Given the description of an element on the screen output the (x, y) to click on. 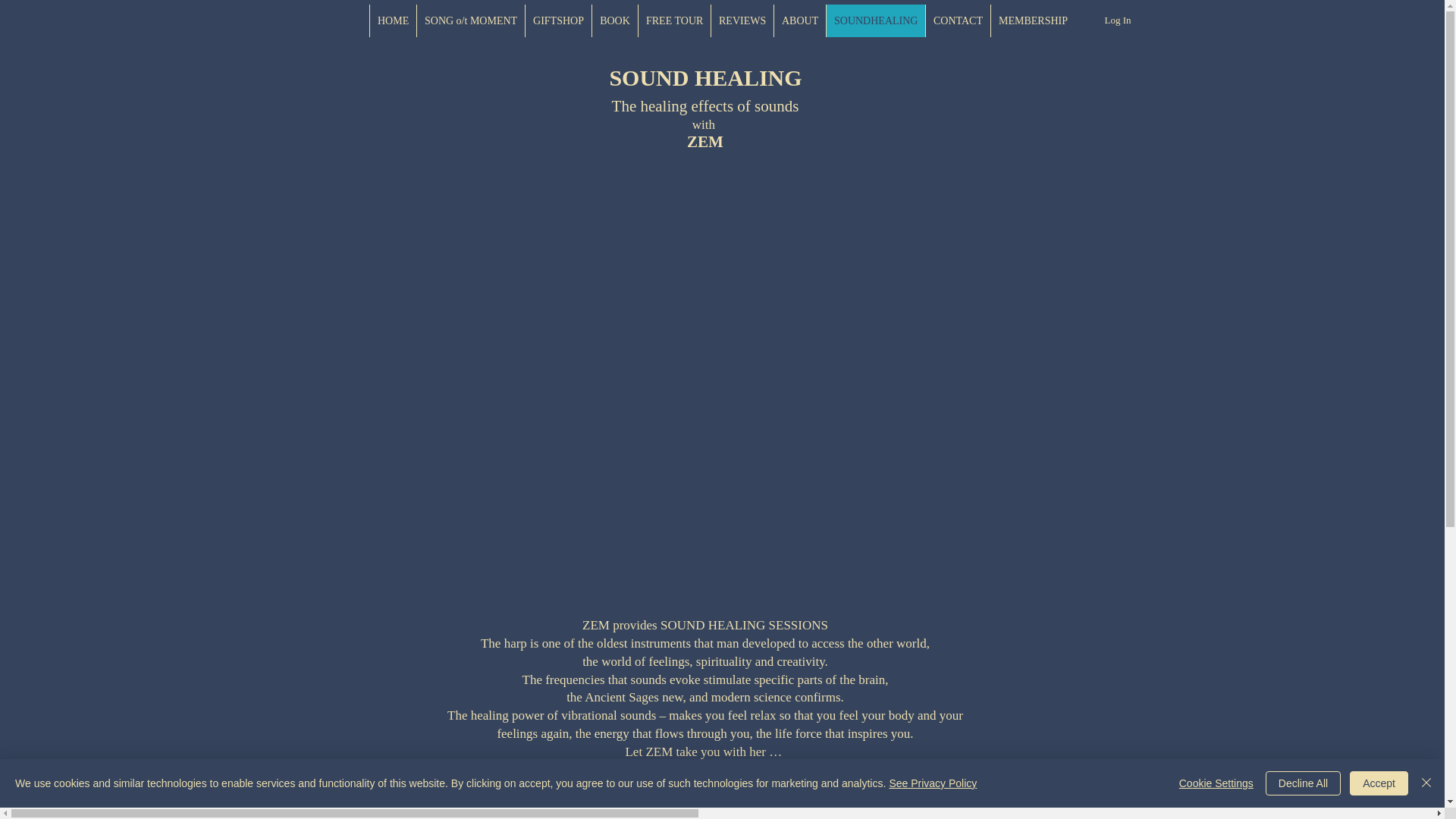
Accept (1378, 783)
HOME (392, 20)
REVIEWS (741, 20)
CONTACT (957, 20)
BOOK (614, 20)
Log In (1117, 20)
GIFTSHOP (557, 20)
SOUNDHEALING (874, 20)
Decline All (1302, 783)
ABOUT (799, 20)
FREE TOUR (673, 20)
See Privacy Policy (932, 783)
